Given the description of an element on the screen output the (x, y) to click on. 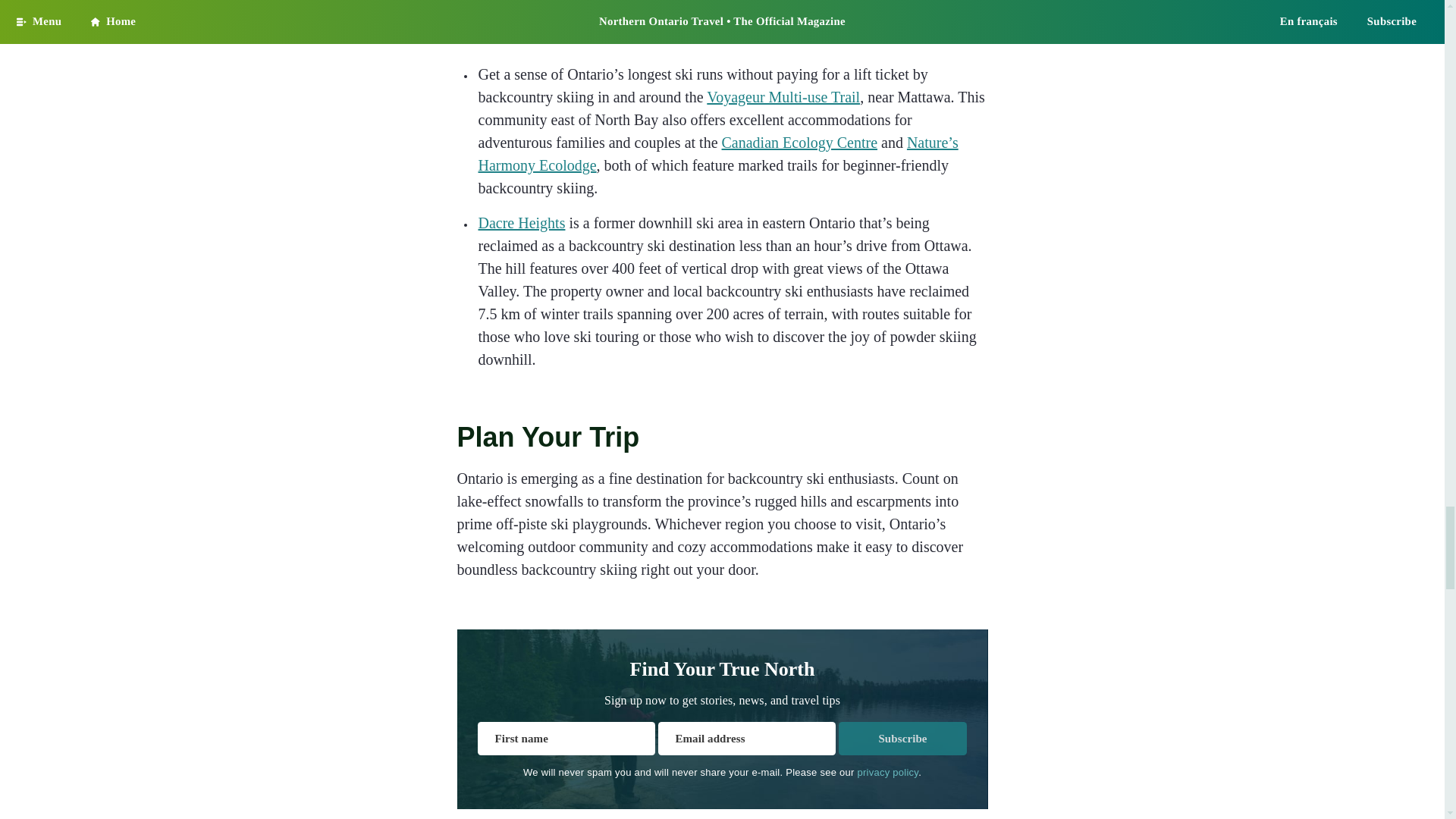
Privacy Policy (887, 772)
